Given the description of an element on the screen output the (x, y) to click on. 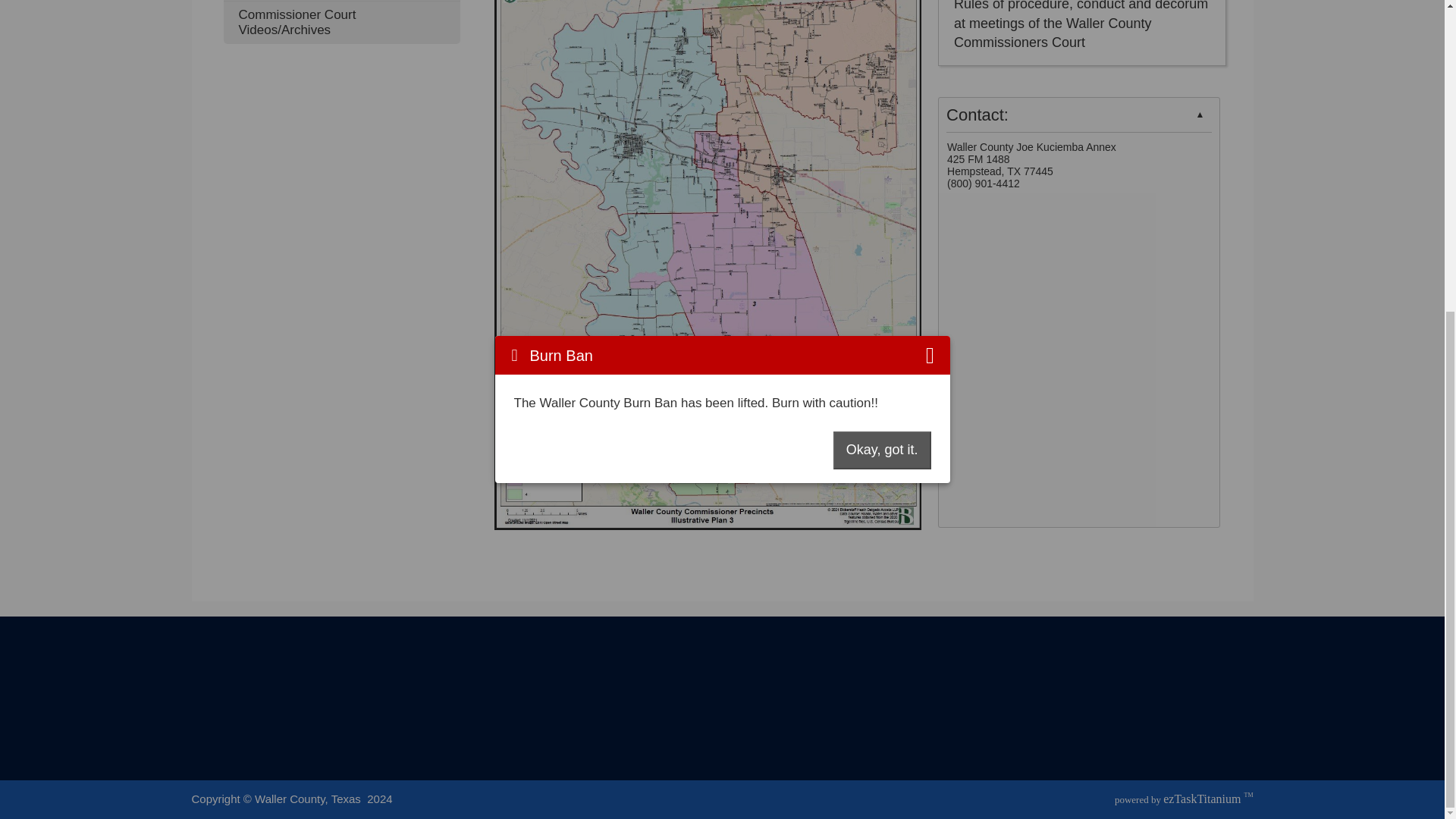
Click here for PDF of Commissioners Court Meeting Rules (1081, 42)
